Given the description of an element on the screen output the (x, y) to click on. 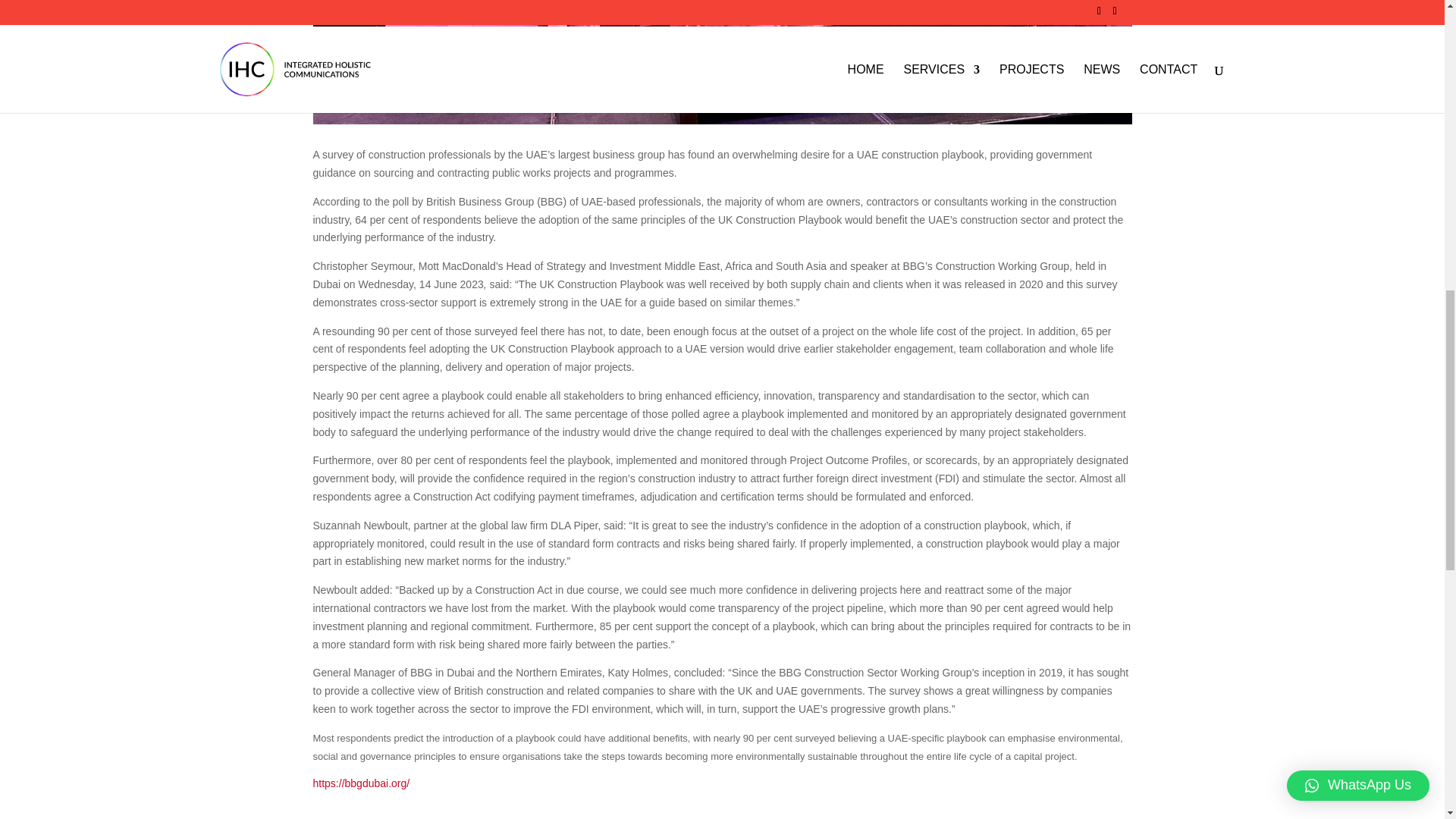
BBG Construction Sector Update (722, 62)
